Given the description of an element on the screen output the (x, y) to click on. 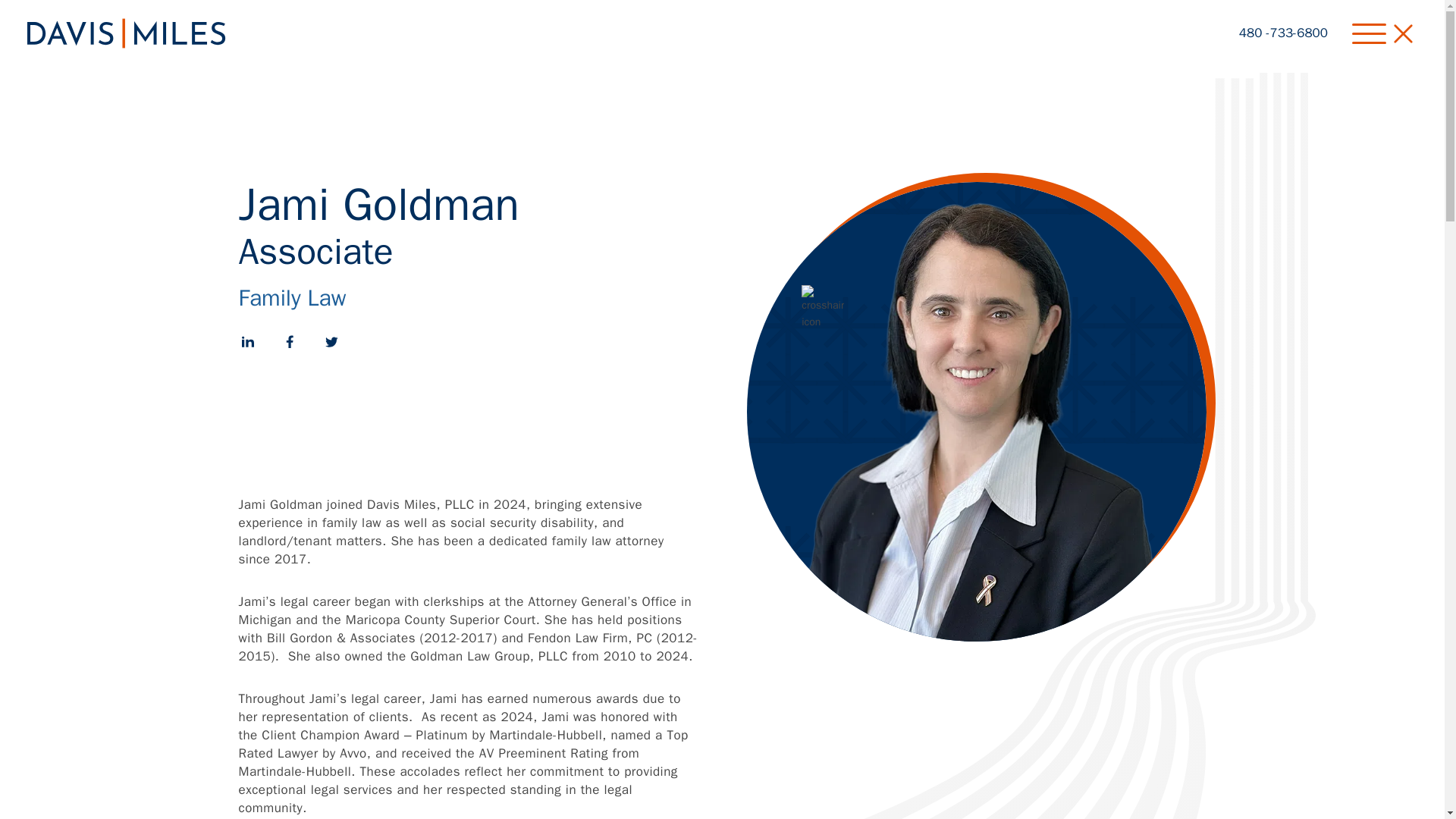
Open main menu (1386, 33)
480 -733-6800 (1283, 33)
Family Law (292, 297)
